Given the description of an element on the screen output the (x, y) to click on. 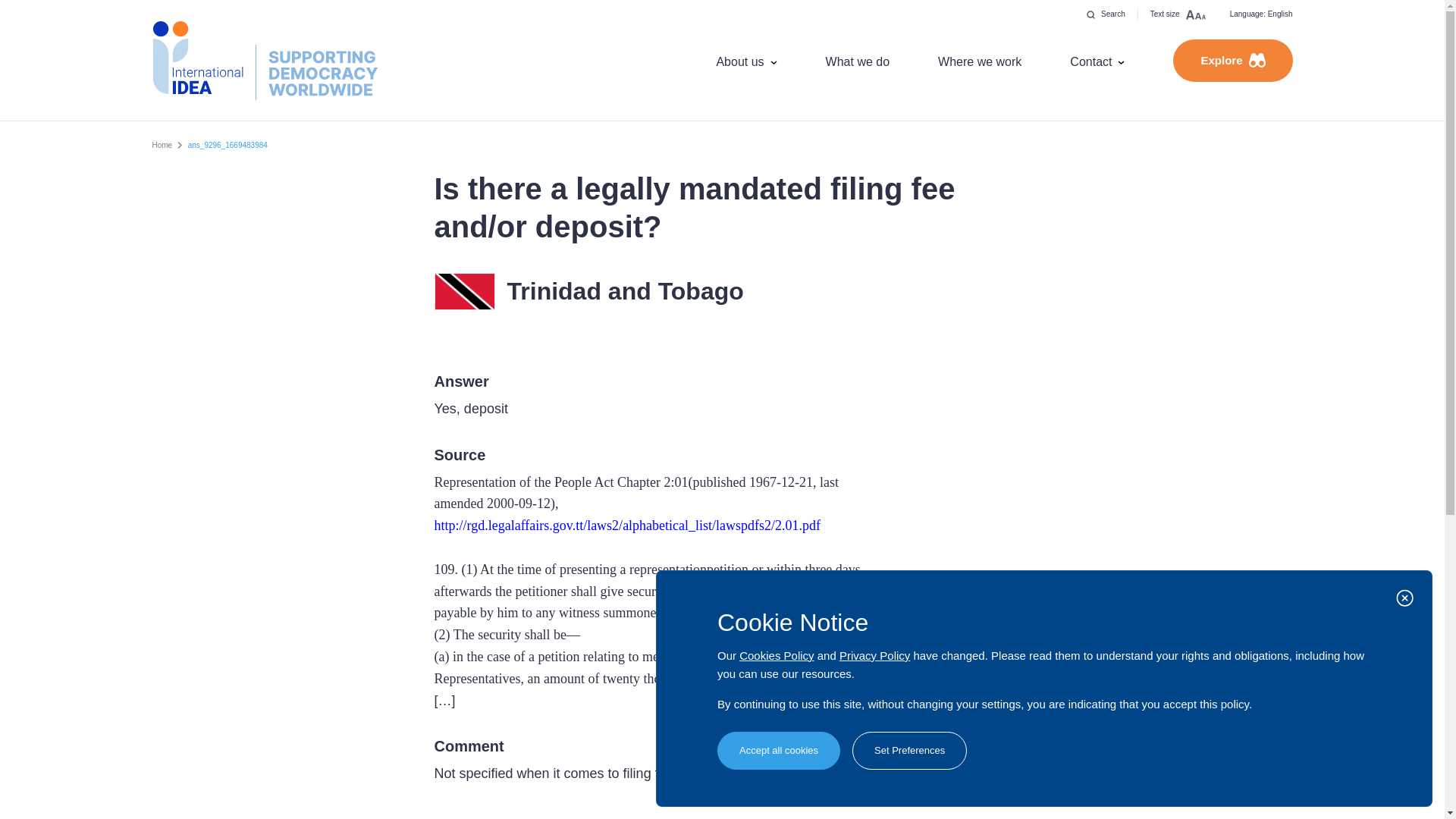
Where we work (979, 61)
Contact (1097, 60)
Search (1106, 14)
What we do (857, 61)
Text size (1177, 14)
Language: English (1260, 14)
About us (746, 60)
